Given the description of an element on the screen output the (x, y) to click on. 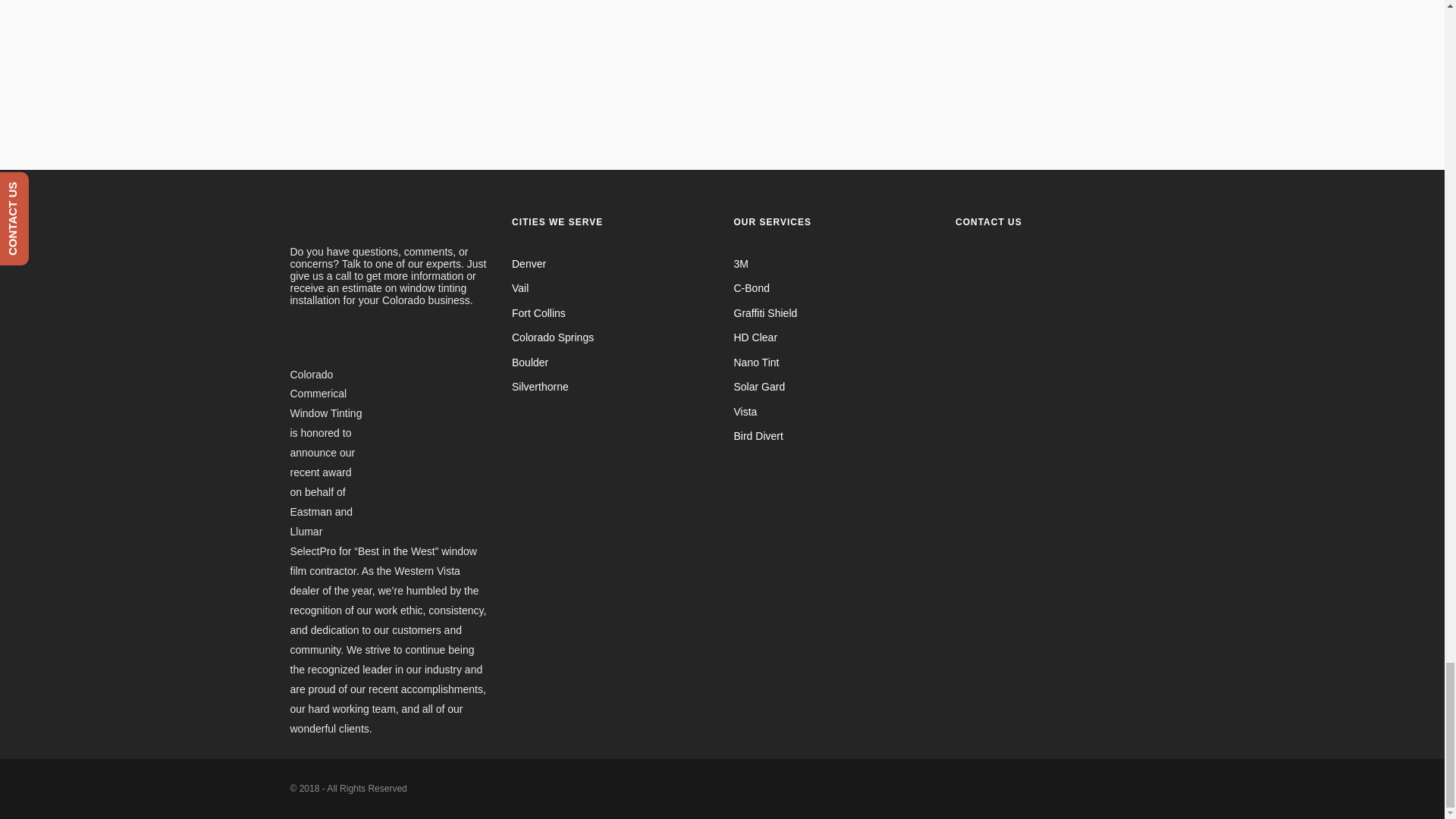
Fort Collins Commercial Window Tinting (539, 313)
Boulder Commercial Window Tinting (530, 362)
3M for Commercial Window Tinting (740, 263)
Colorado Springs Commercial Window Tinting (553, 337)
Denver Commercial Window Tinting (529, 263)
Silverthorne Commercial Window Tinting (540, 386)
Vail Commercial Window Tinting (520, 287)
